Given the description of an element on the screen output the (x, y) to click on. 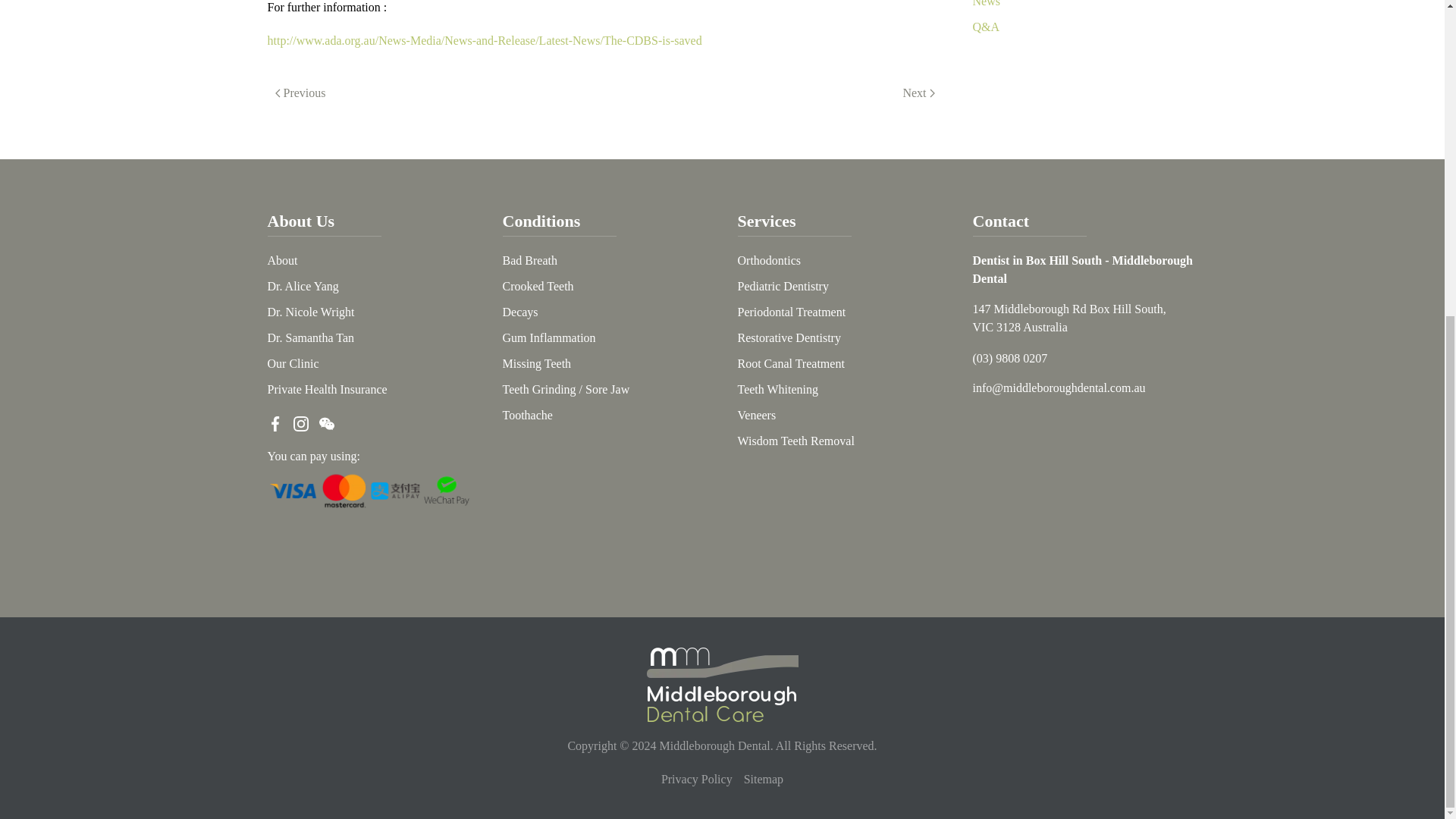
Private Health Insurance (326, 389)
News (985, 3)
Our Clinic (292, 363)
Dr. Samantha Tan (309, 337)
Dr. Alice Yang (301, 286)
About Us (300, 220)
Previous (299, 93)
Next (918, 93)
About (281, 259)
Dr. Nicole Wright (309, 311)
